Given the description of an element on the screen output the (x, y) to click on. 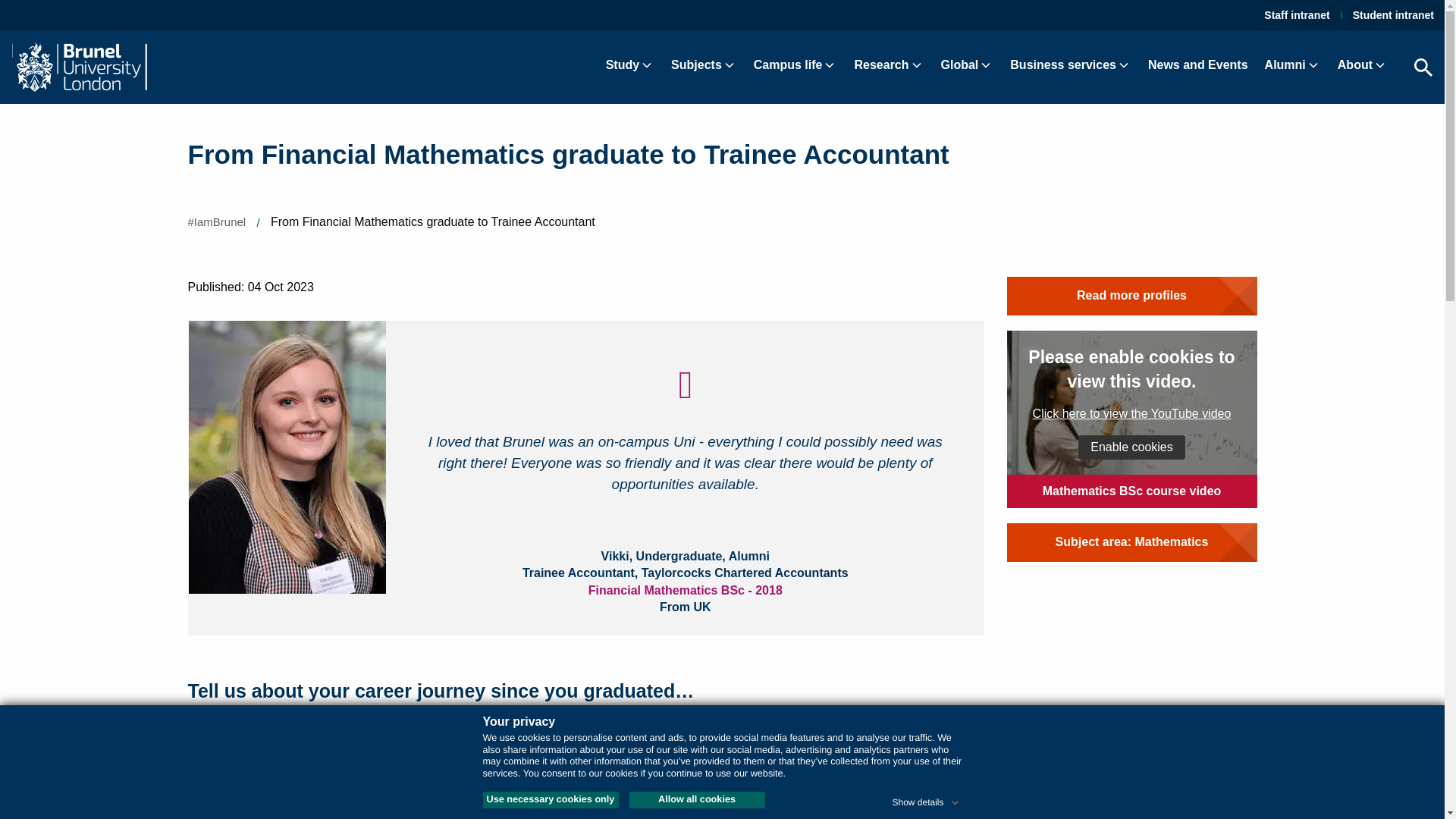
Use necessary cookies only (549, 799)
Allow all cookies (696, 799)
Show details (925, 799)
